Given the description of an element on the screen output the (x, y) to click on. 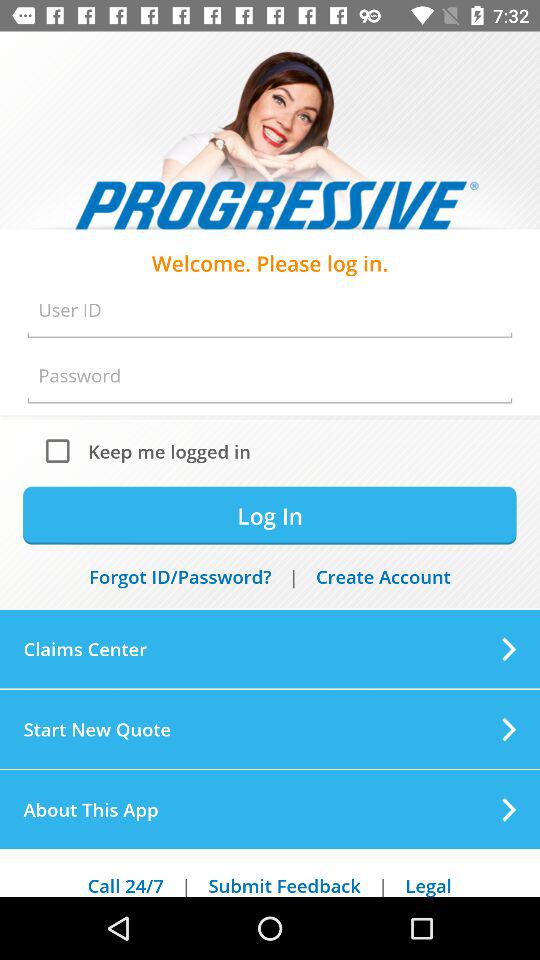
remain logged in (62, 450)
